Given the description of an element on the screen output the (x, y) to click on. 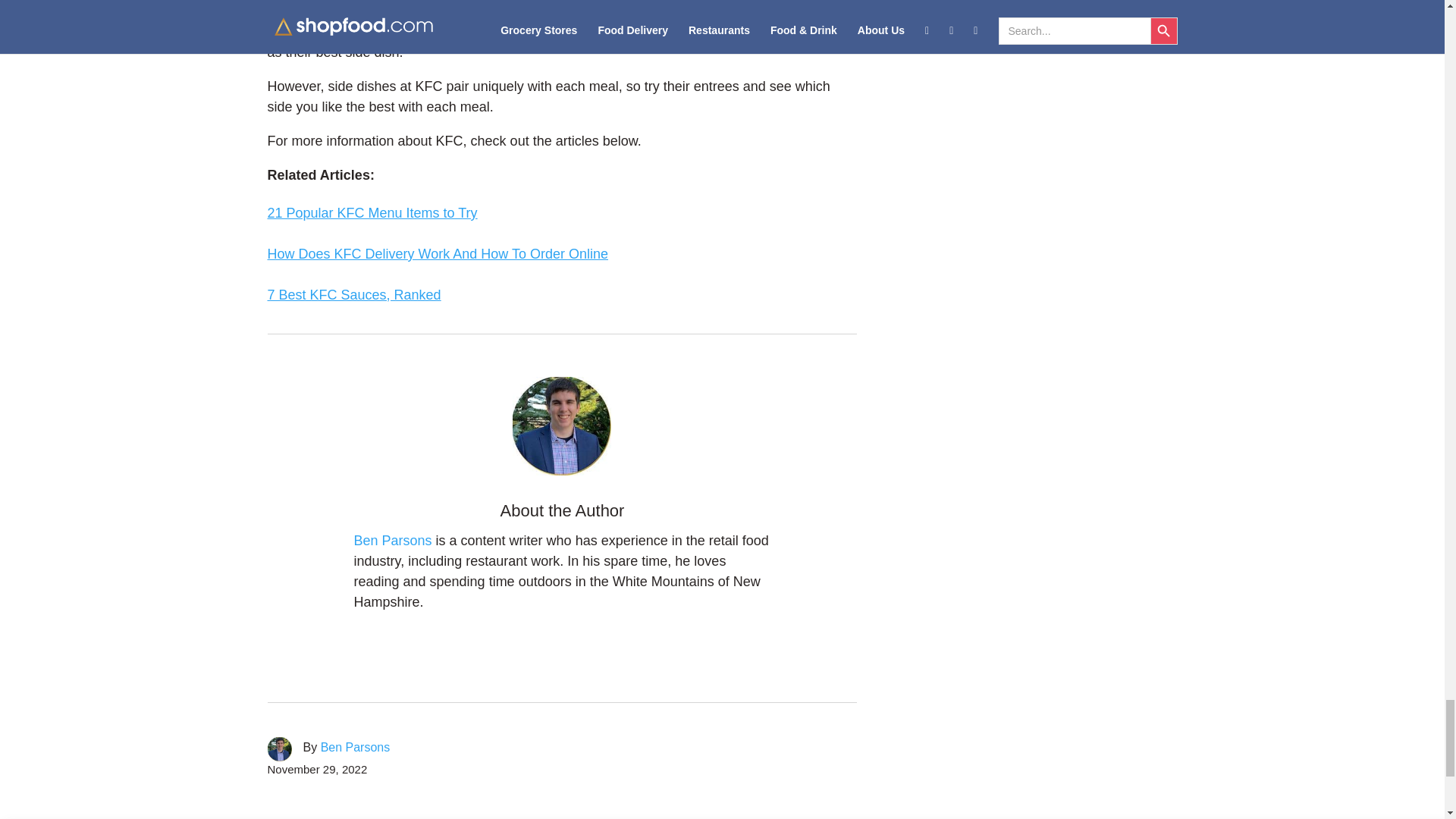
How Does KFC Delivery Work And How To Order Online (437, 253)
Ben Parsons (355, 747)
7 Best KFC Sauces, Ranked (353, 294)
Ben Parsons (394, 540)
21 Popular KFC Menu Items to Try (371, 212)
